Given the description of an element on the screen output the (x, y) to click on. 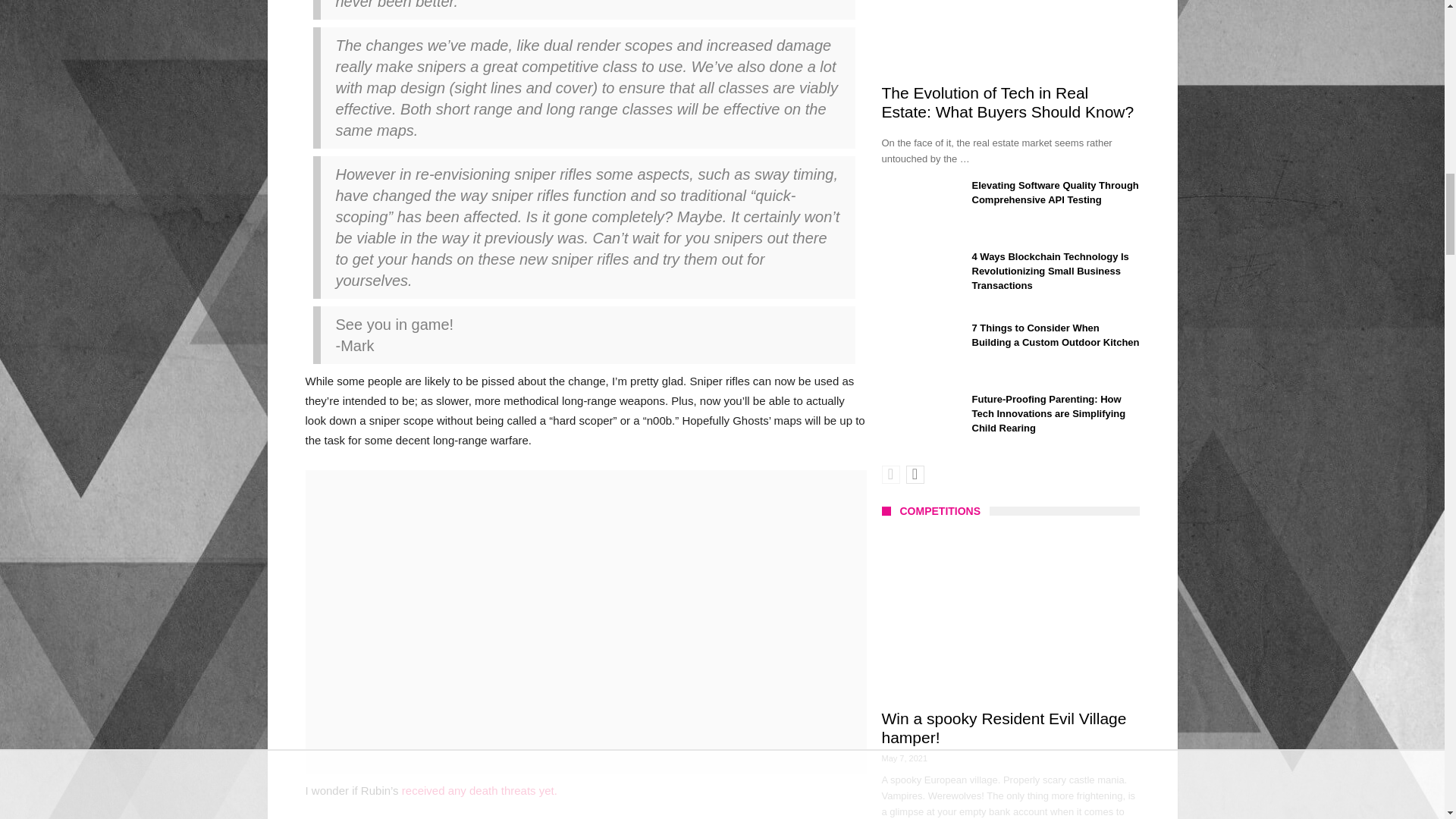
received any death threats yet. (479, 789)
